Given the description of an element on the screen output the (x, y) to click on. 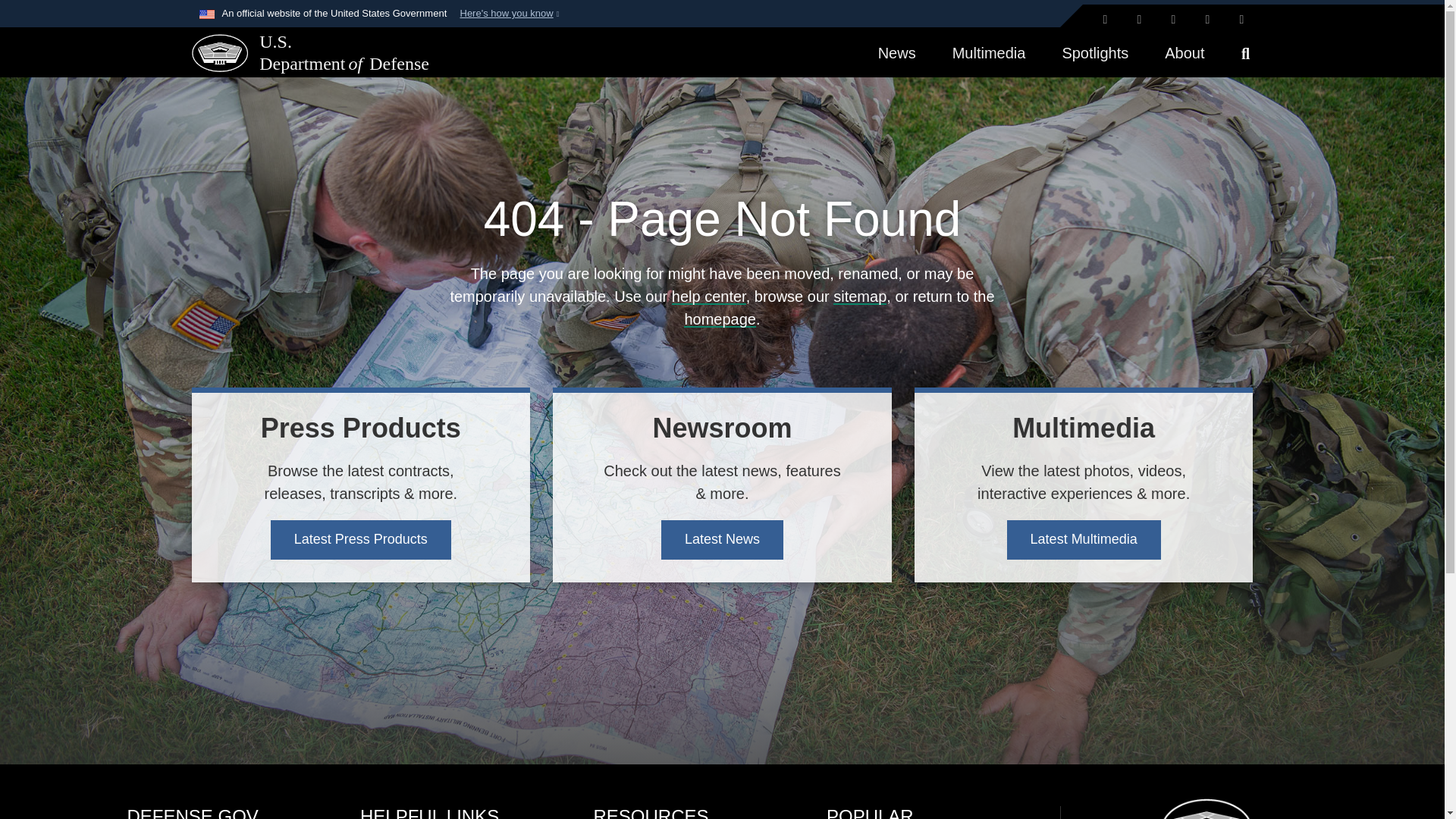
LinkedIn (1208, 19)
Multimedia (988, 51)
Spotlights (1095, 51)
YouTube (1241, 19)
News (897, 51)
U.S. Department of Defense (218, 52)
Instagram (1173, 19)
X (1104, 19)
Facebook (1139, 19)
U.S. DepartmentofDefense (298, 53)
